Given the description of an element on the screen output the (x, y) to click on. 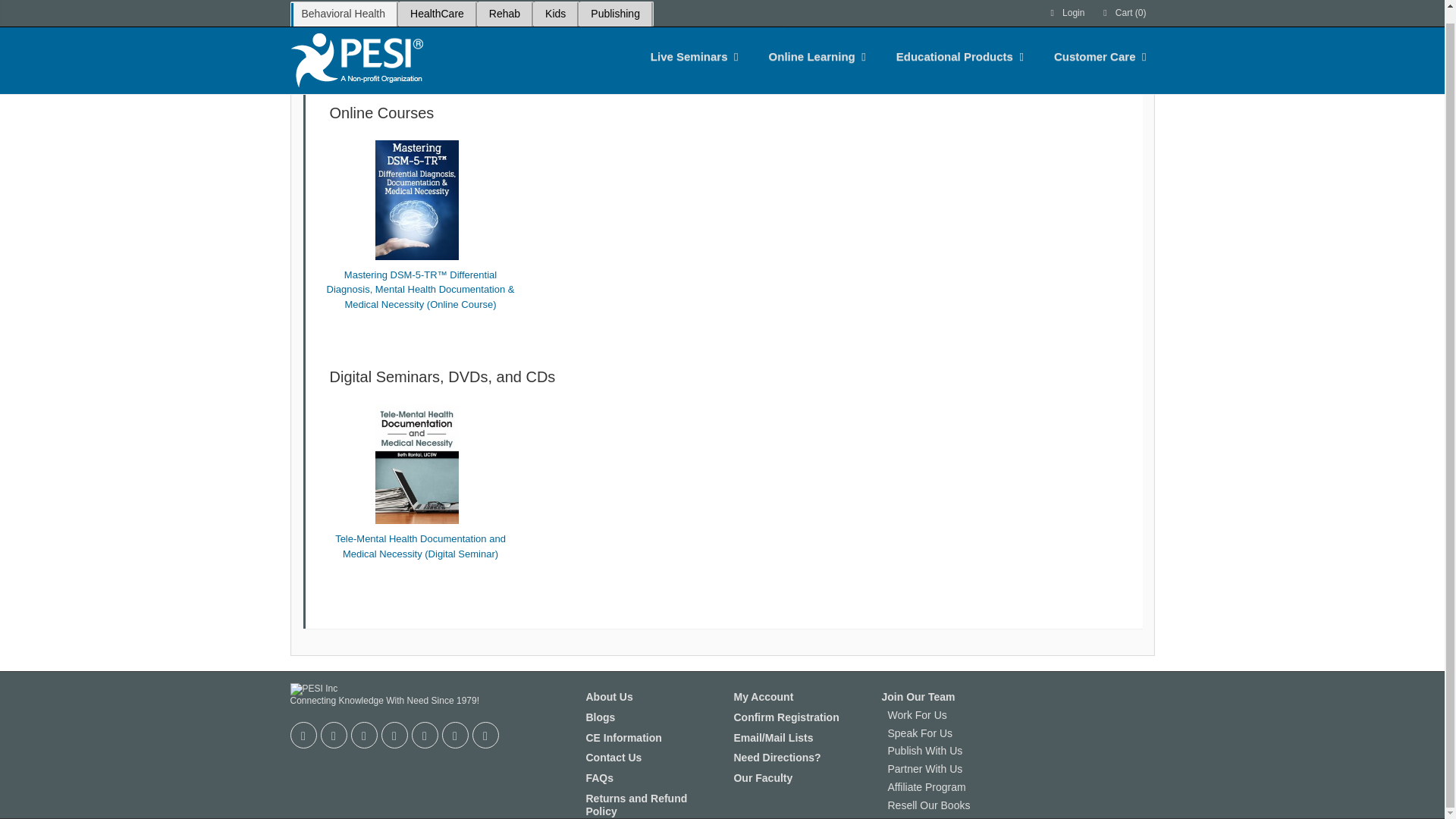
Behavioral Health (342, 6)
Rehab (504, 6)
Online Learning (812, 43)
Login (1067, 6)
Live Seminars (689, 43)
HealthCare (437, 6)
Kids (555, 6)
Publishing (614, 6)
